Given the description of an element on the screen output the (x, y) to click on. 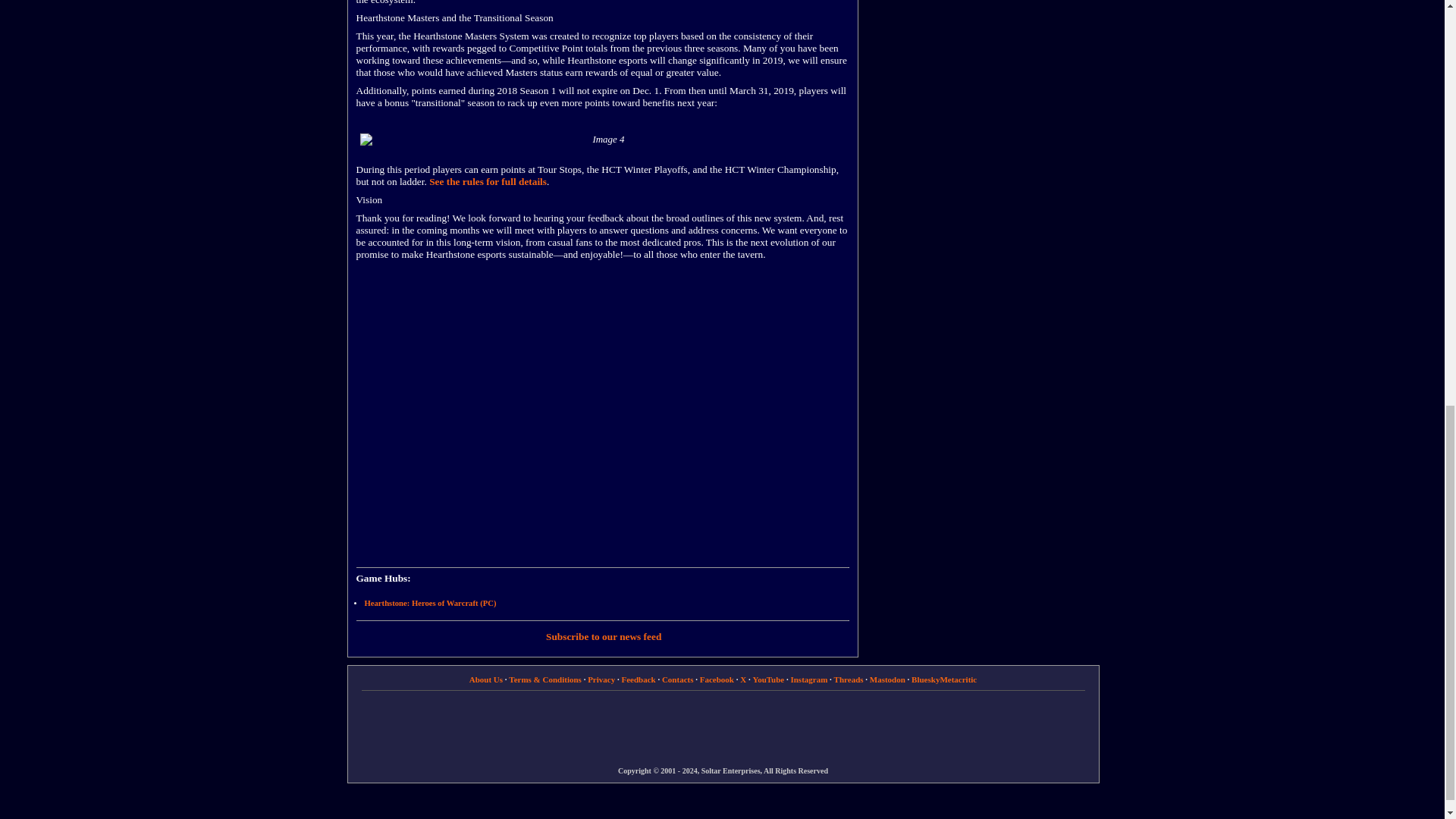
Bluesky (925, 678)
About Us (485, 678)
Privacy (601, 678)
Facebook (716, 678)
Mastodon (887, 678)
See the rules for full details (488, 181)
Threads (848, 678)
Contacts (678, 678)
YouTube (768, 678)
Subscribe to our news feed (603, 636)
Metacritic (957, 678)
Feedback (638, 678)
Instagram (808, 678)
